Given the description of an element on the screen output the (x, y) to click on. 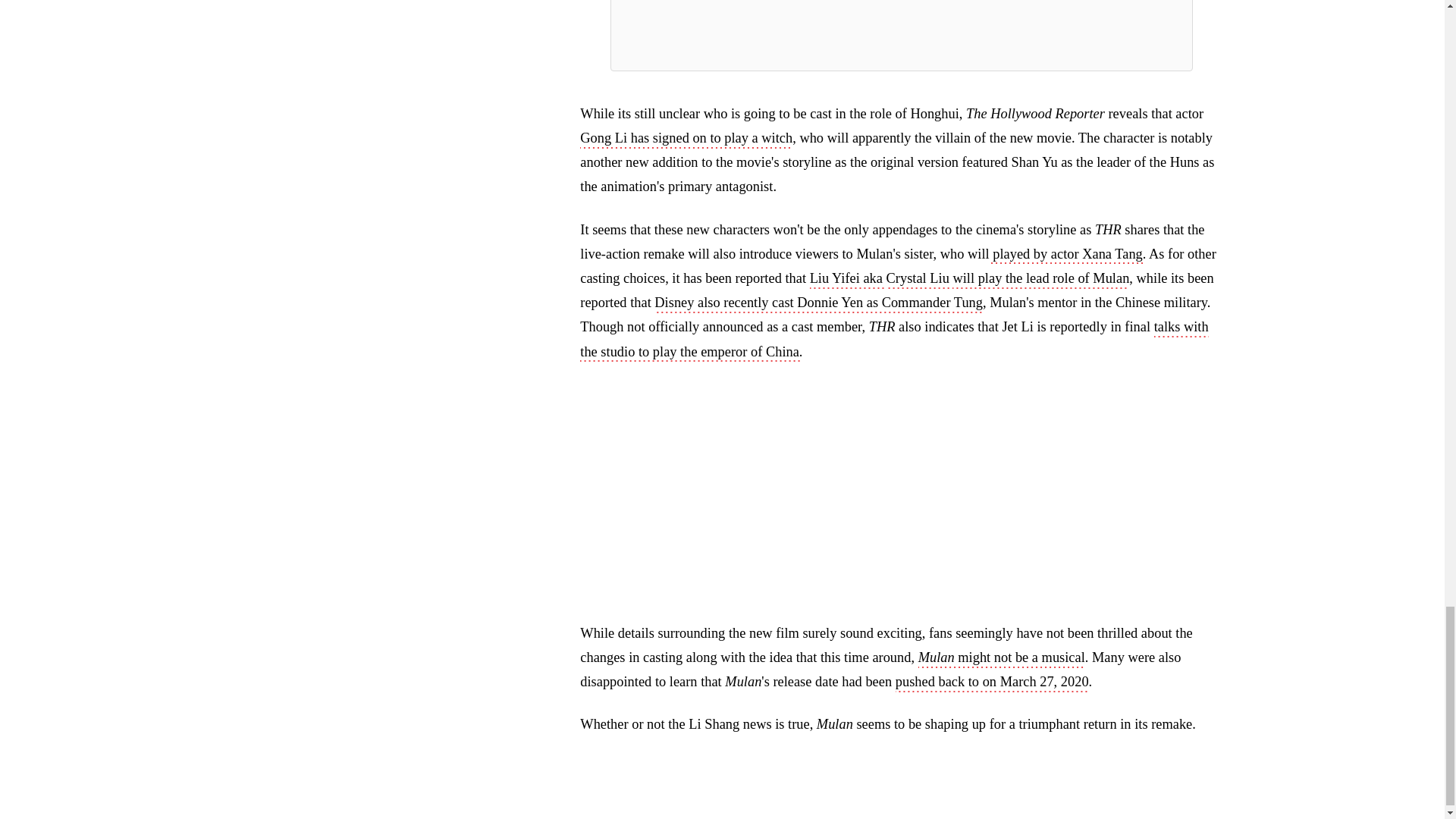
Liu Yifei aka (847, 280)
talks with the studio to play the emperor of China. (893, 340)
pushed back to on March 27, 2020 (992, 683)
Mulan might not be a musical (1001, 659)
played by actor Xana Tang (1066, 255)
will play the lead role of Mulan (1040, 280)
Crystal Liu (917, 280)
Gong Li has signed on to play a witch (685, 139)
Disney also recently cast Donnie Yen as Commander Tung (817, 303)
